Given the description of an element on the screen output the (x, y) to click on. 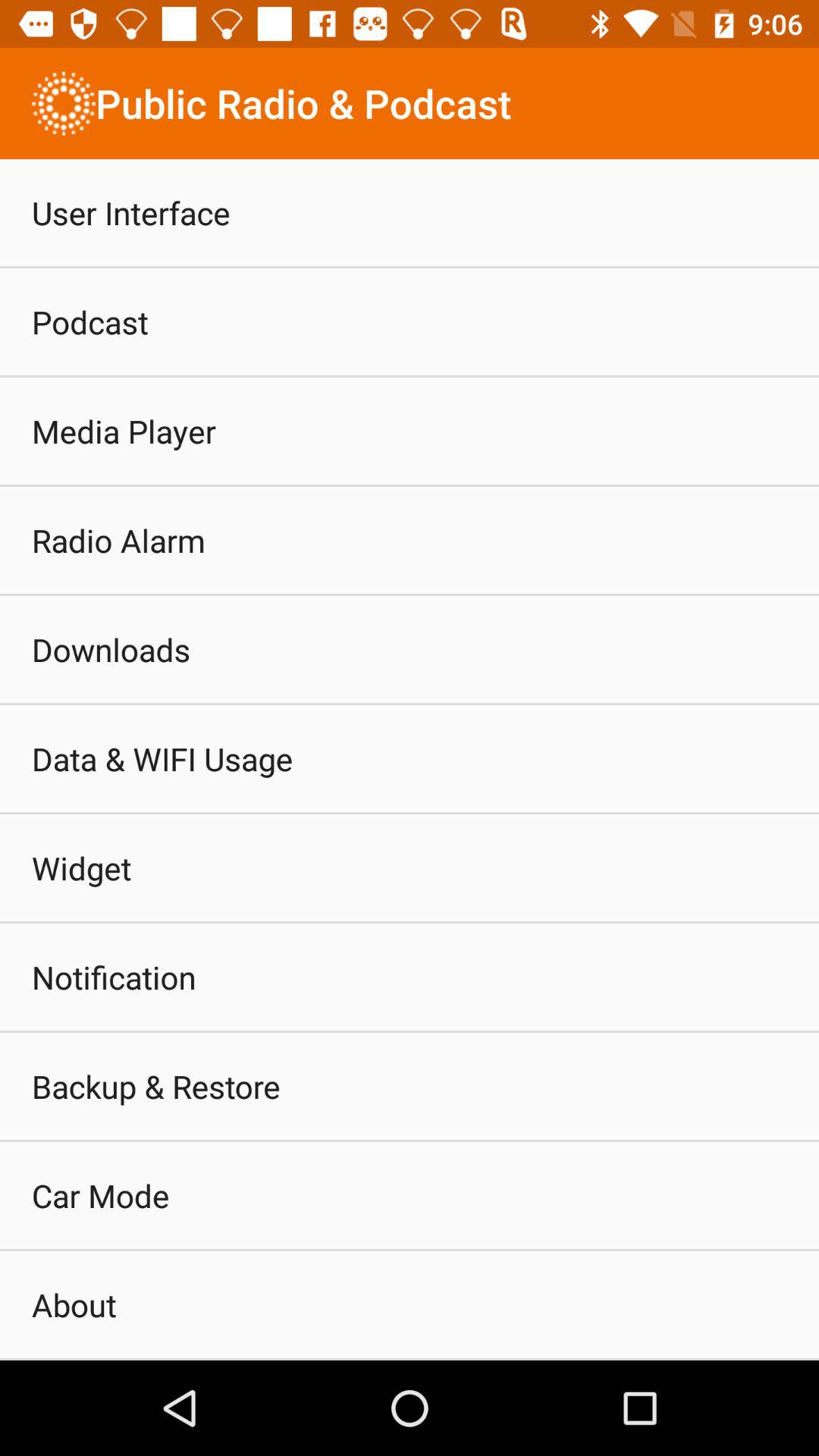
click the car mode icon (100, 1195)
